Given the description of an element on the screen output the (x, y) to click on. 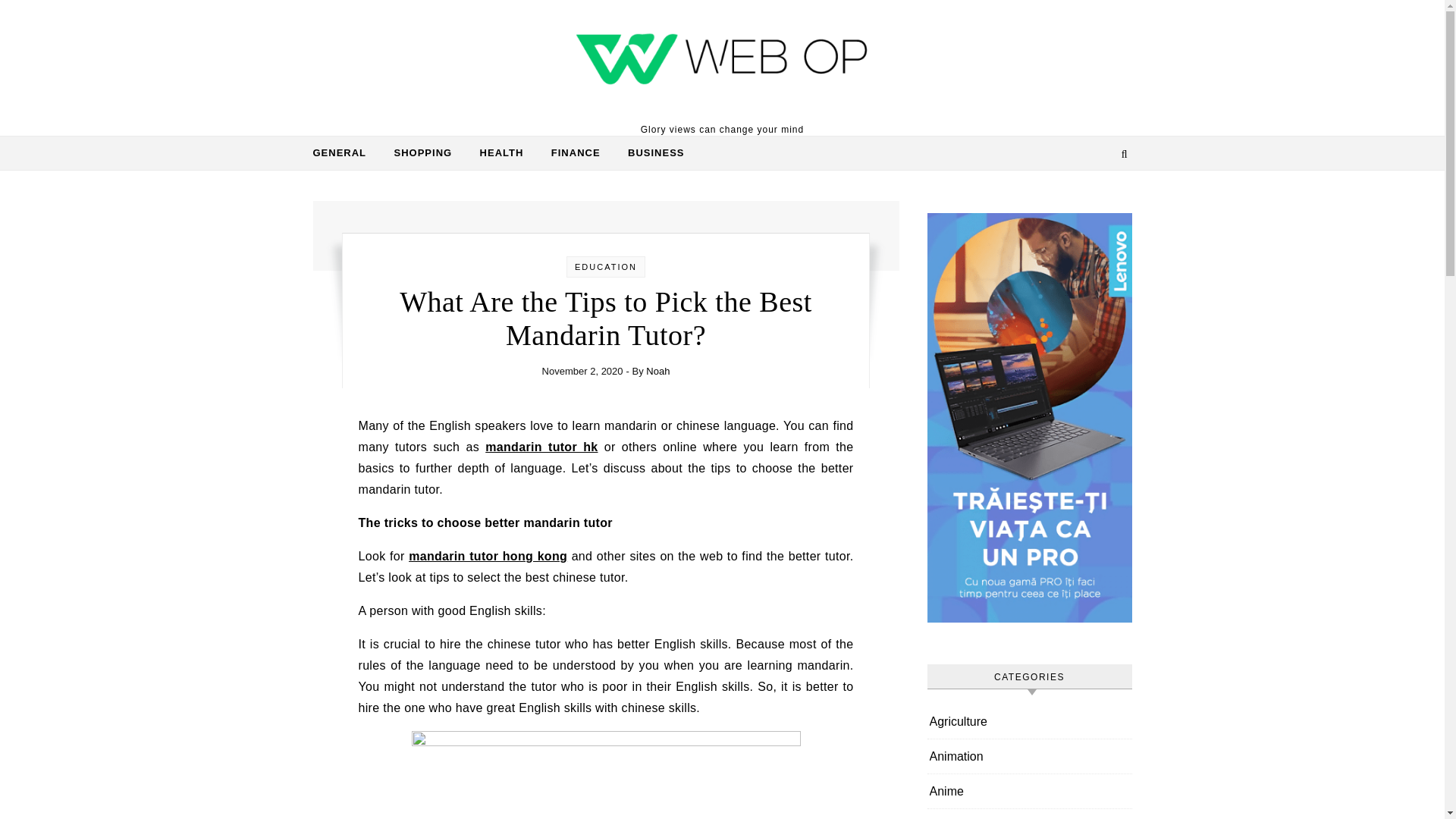
FINANCE (575, 152)
mandarin tutor hk (540, 446)
Posts by Noah (657, 370)
EDUCATION (606, 266)
Noah (657, 370)
Application (959, 814)
Web Op (721, 61)
mandarin tutor hong kong (488, 555)
GENERAL (345, 152)
Anime (946, 790)
Agriculture (958, 721)
SHOPPING (422, 152)
Animation (957, 756)
BUSINESS (649, 152)
HEALTH (501, 152)
